Given the description of an element on the screen output the (x, y) to click on. 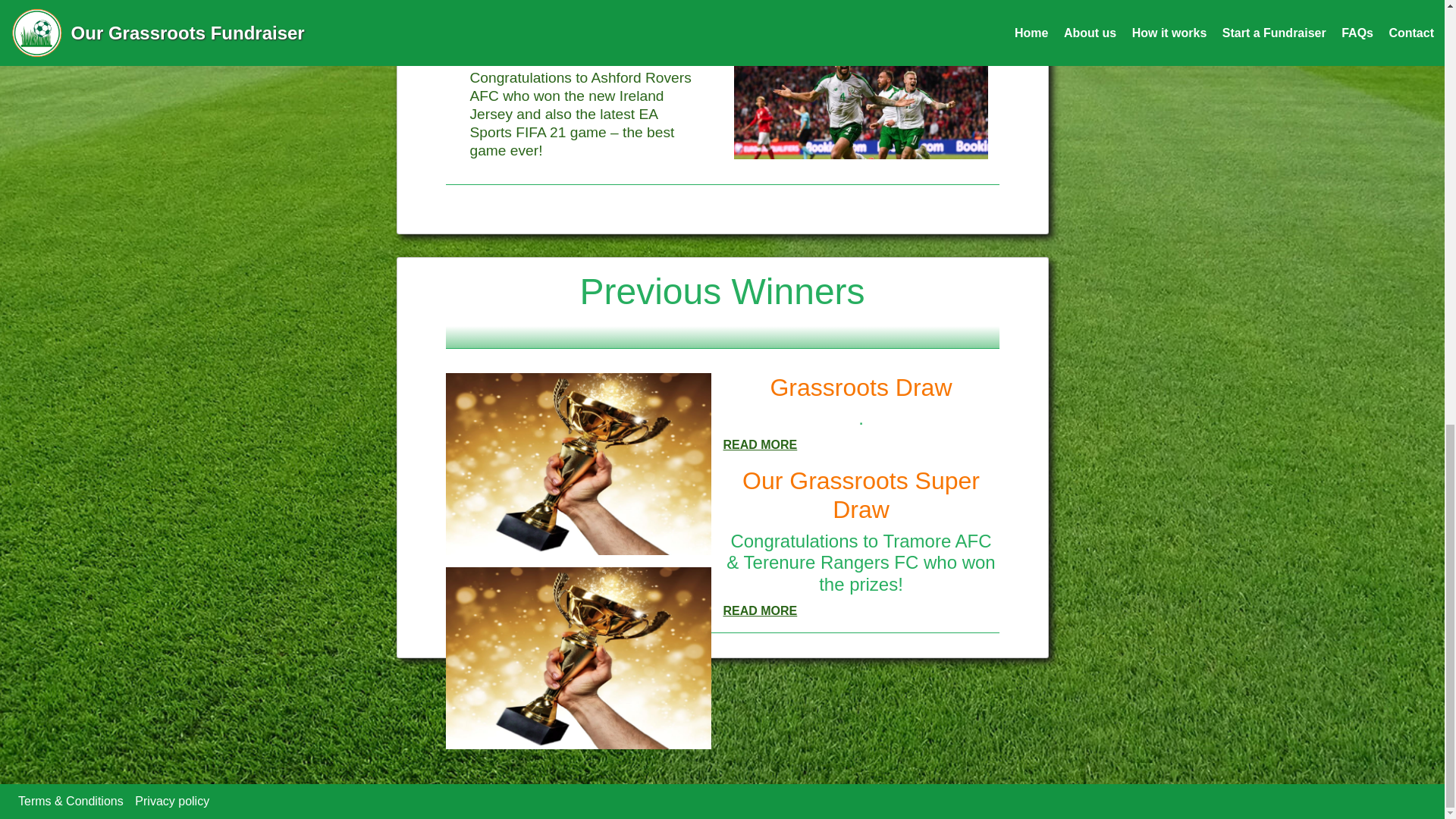
Privacy policy (172, 800)
READ MORE (760, 444)
READ MORE (760, 610)
